Given the description of an element on the screen output the (x, y) to click on. 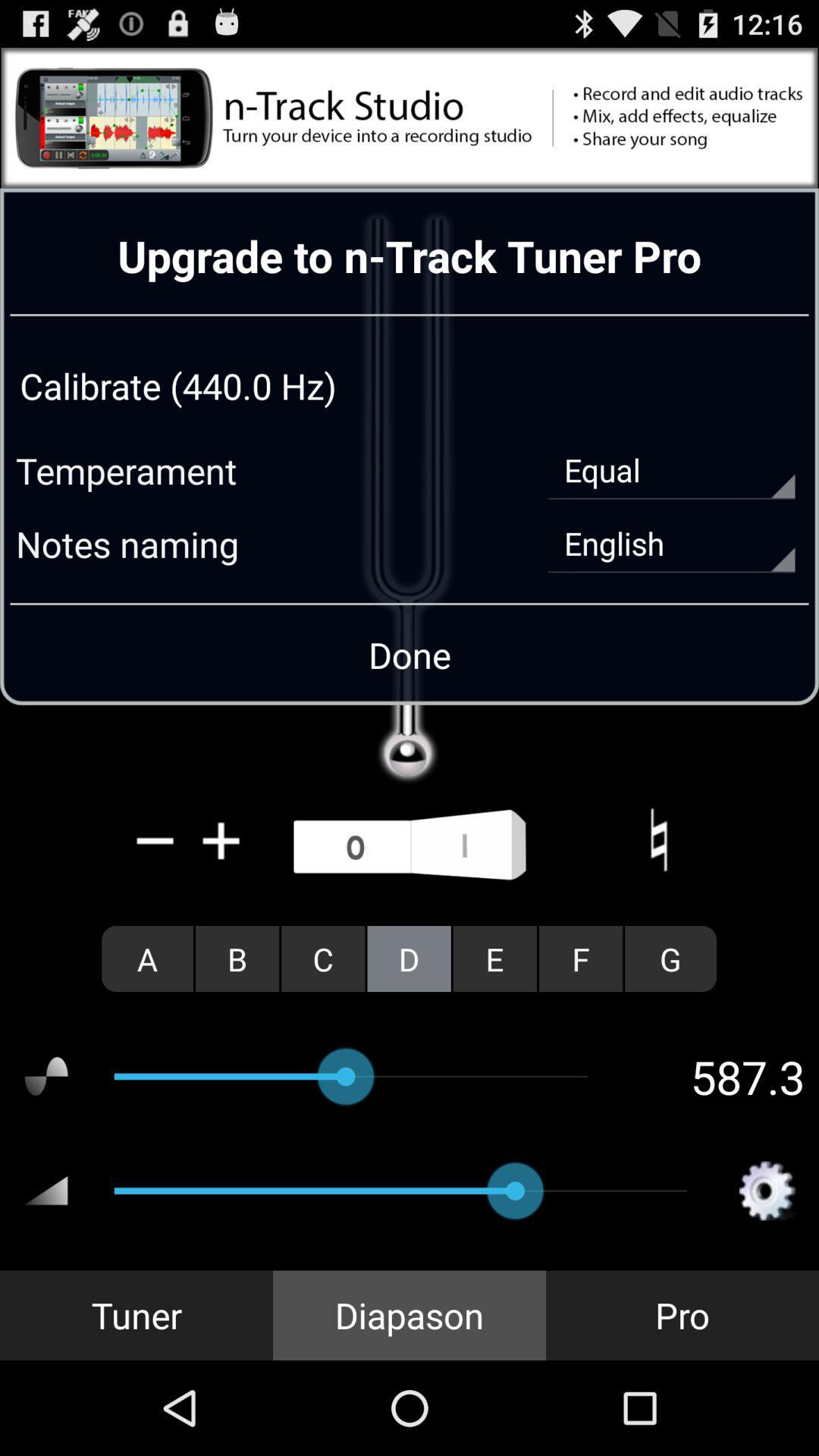
select diapason (409, 1315)
